Given the description of an element on the screen output the (x, y) to click on. 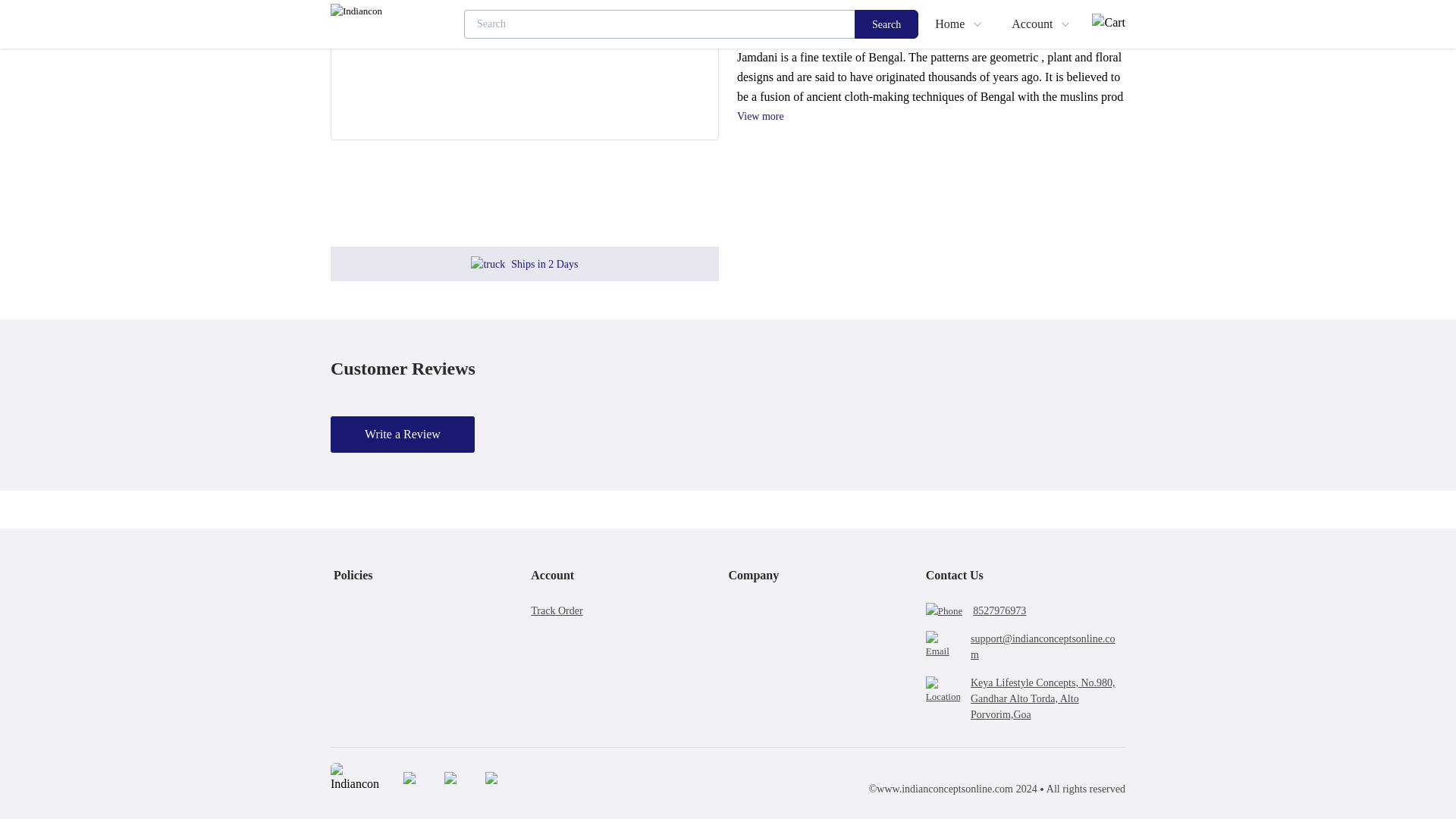
Write a Review (402, 434)
Track Order (628, 610)
8527976973 (999, 610)
Write a Review (403, 434)
